Given the description of an element on the screen output the (x, y) to click on. 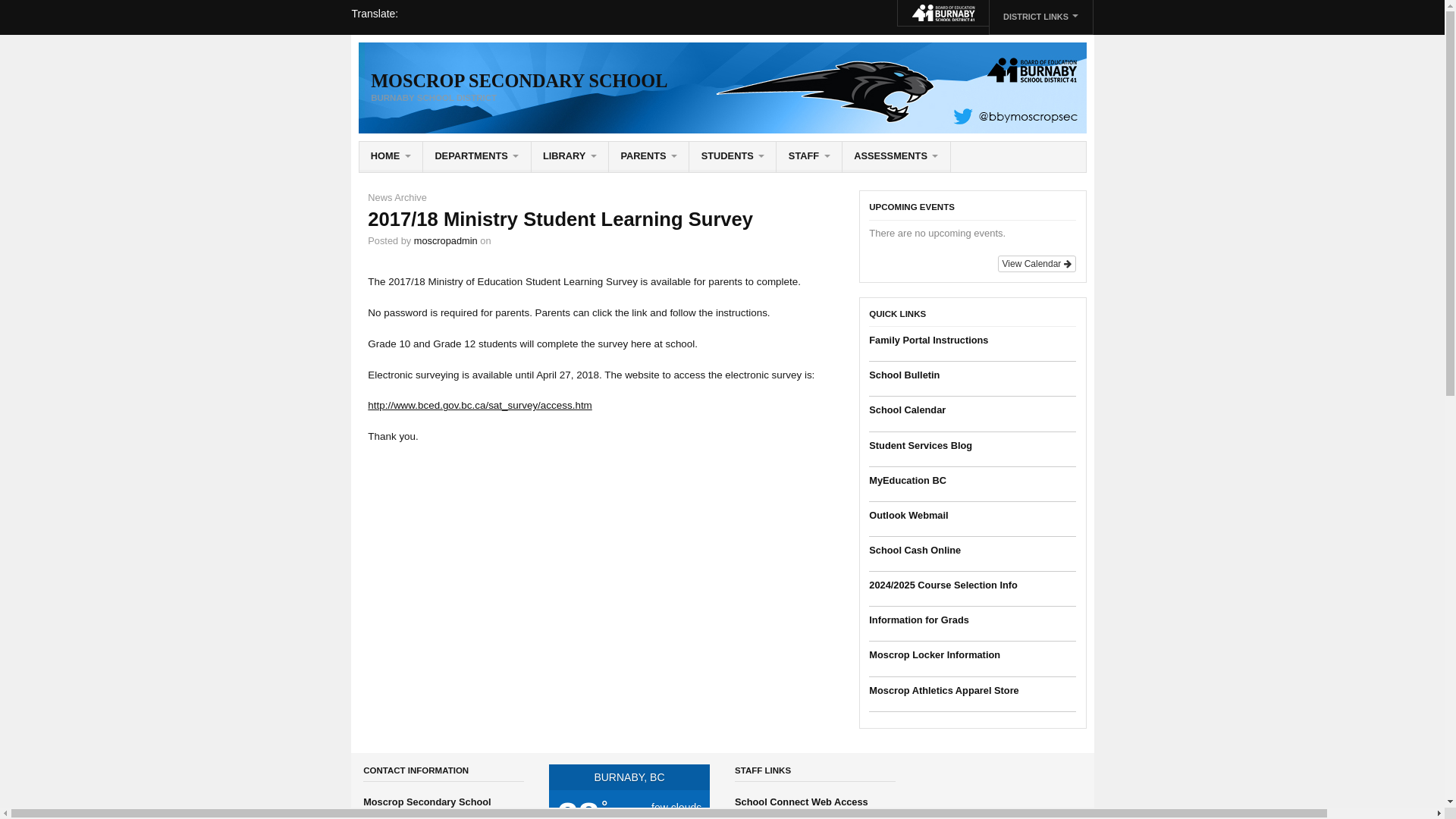
Password reset (732, 156)
DISTRICT LINKS (1039, 17)
moscropadmin (445, 240)
HOME (391, 156)
DEPARTMENTS (477, 156)
MOSCROP SECONDARY SCHOOL (518, 80)
